Given the description of an element on the screen output the (x, y) to click on. 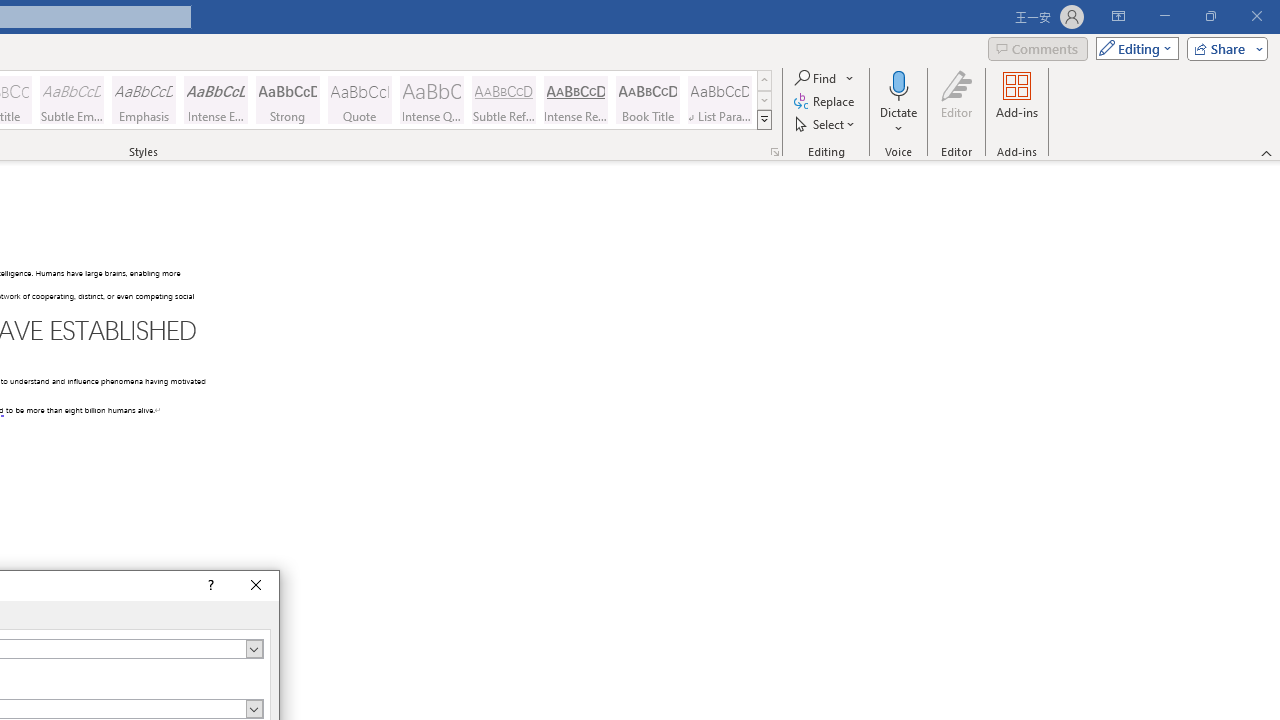
Close (256, 585)
Restore Down (1210, 16)
Quote (359, 100)
Mode (1133, 47)
Strong (287, 100)
Context help (208, 585)
Share (1223, 48)
Replace... (826, 101)
Styles (763, 120)
Editor (956, 102)
Book Title (647, 100)
Dictate (899, 102)
Comments (1038, 48)
Dictate (899, 84)
